Given the description of an element on the screen output the (x, y) to click on. 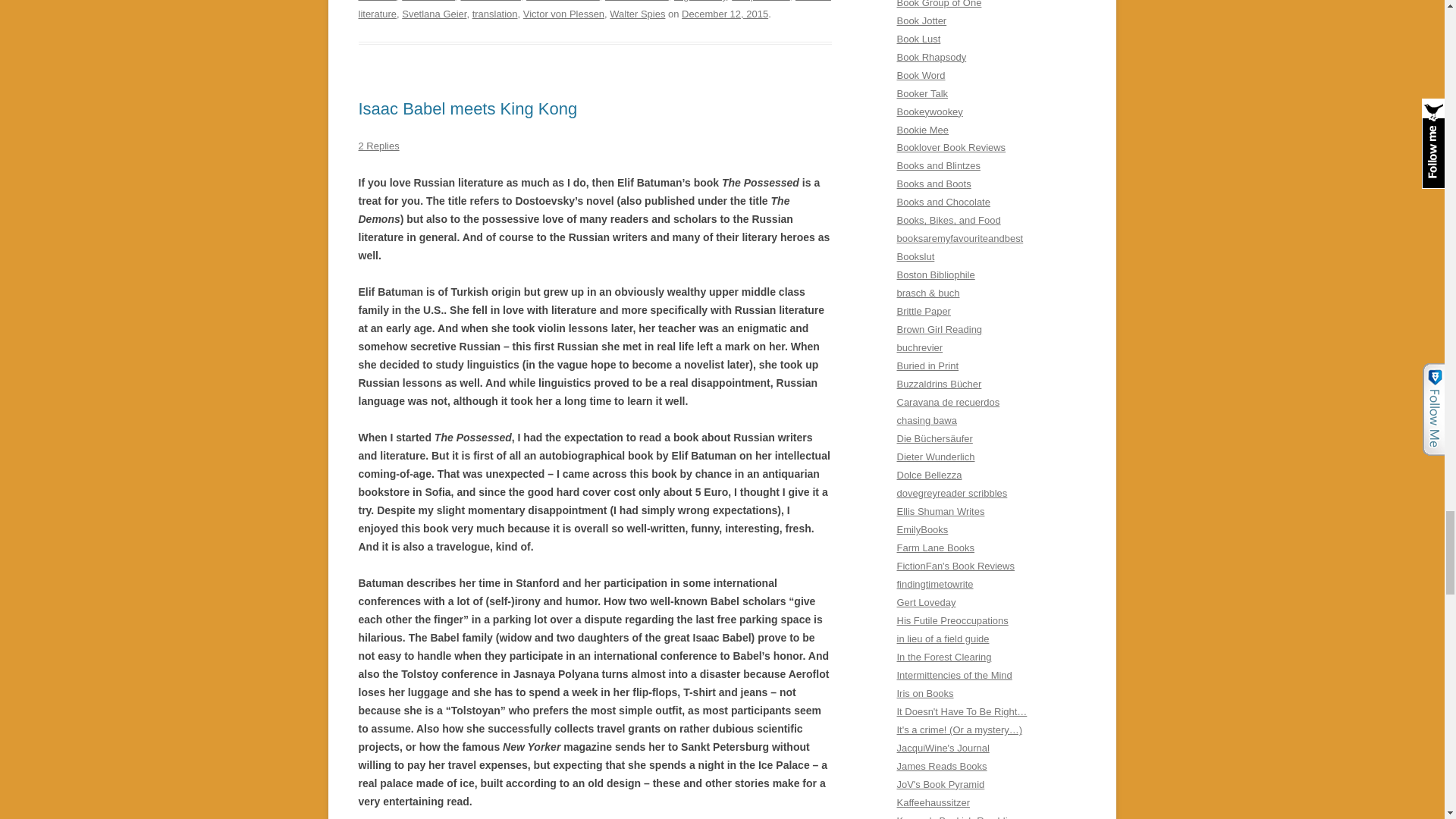
11:25 am (724, 13)
